Given the description of an element on the screen output the (x, y) to click on. 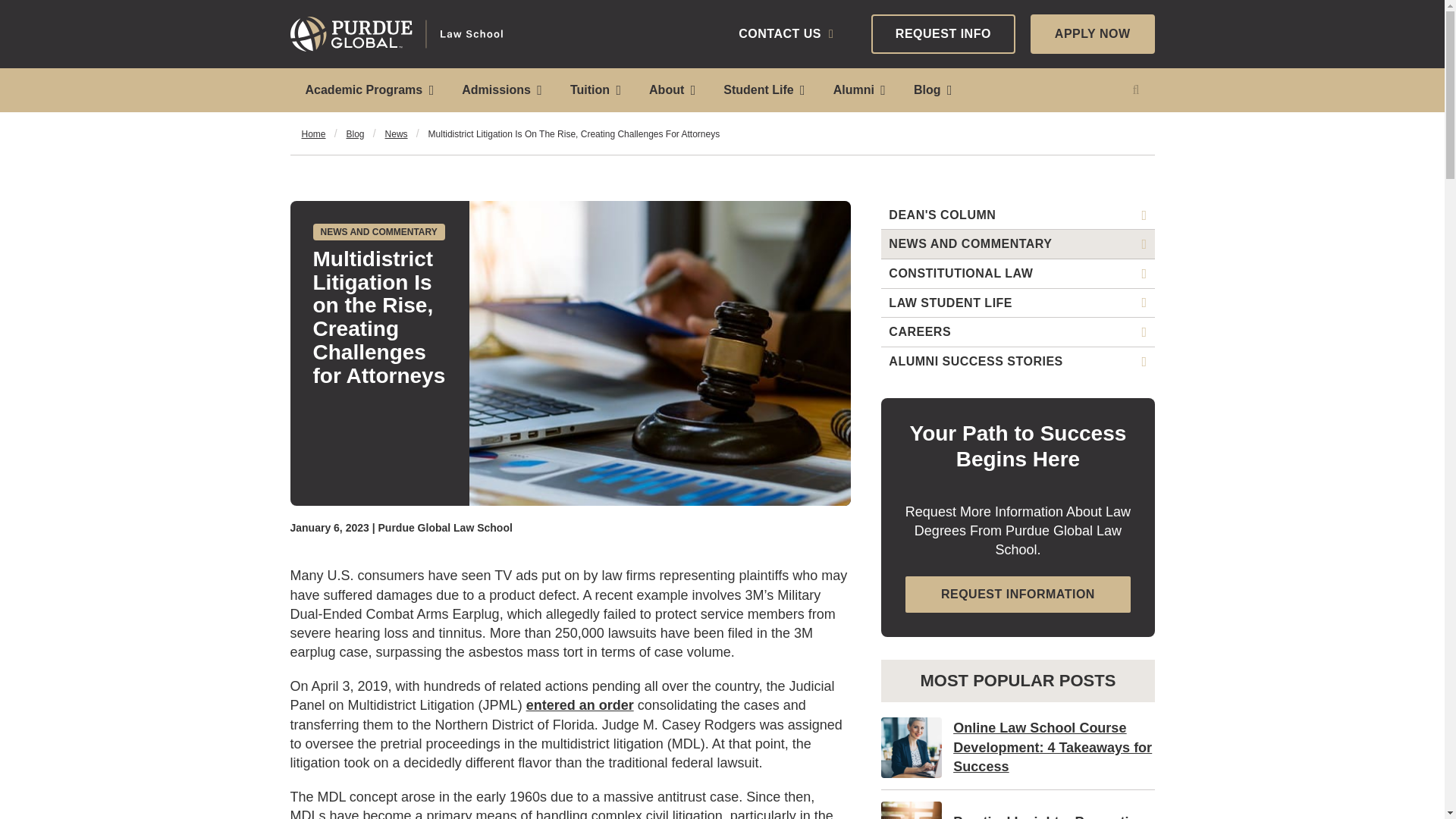
CONTACT US (785, 33)
Academic Programs (367, 89)
Tuition (593, 89)
Admissions (500, 89)
REQUEST INFO (942, 34)
About (670, 89)
Student Life (761, 89)
APPLY NOW (1092, 34)
